Given the description of an element on the screen output the (x, y) to click on. 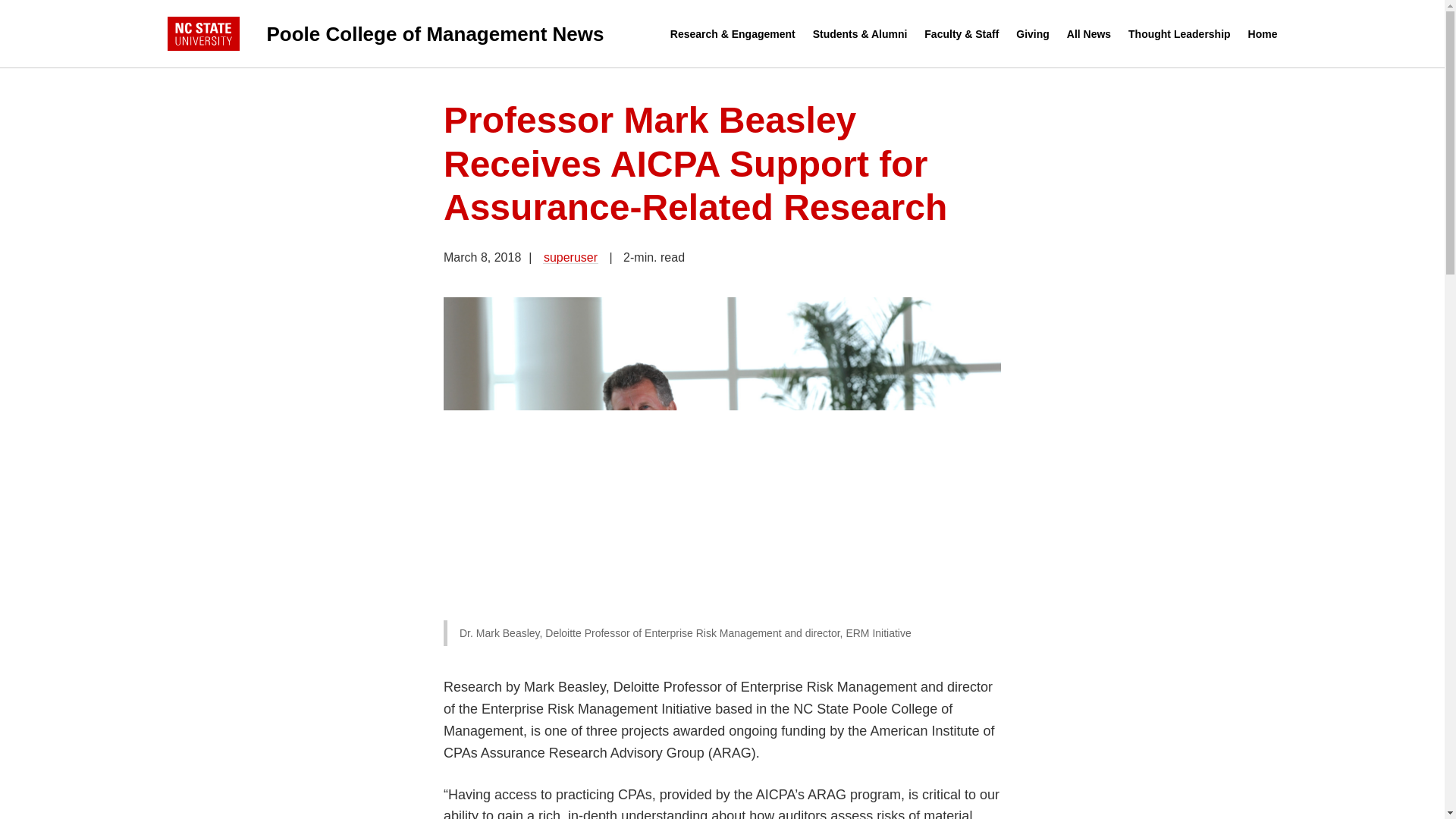
Giving (1033, 34)
Thought Leadership (1179, 34)
Poole College of Management News (418, 33)
All News (1088, 34)
Posts by superuser (570, 256)
Home (1262, 34)
